Given the description of an element on the screen output the (x, y) to click on. 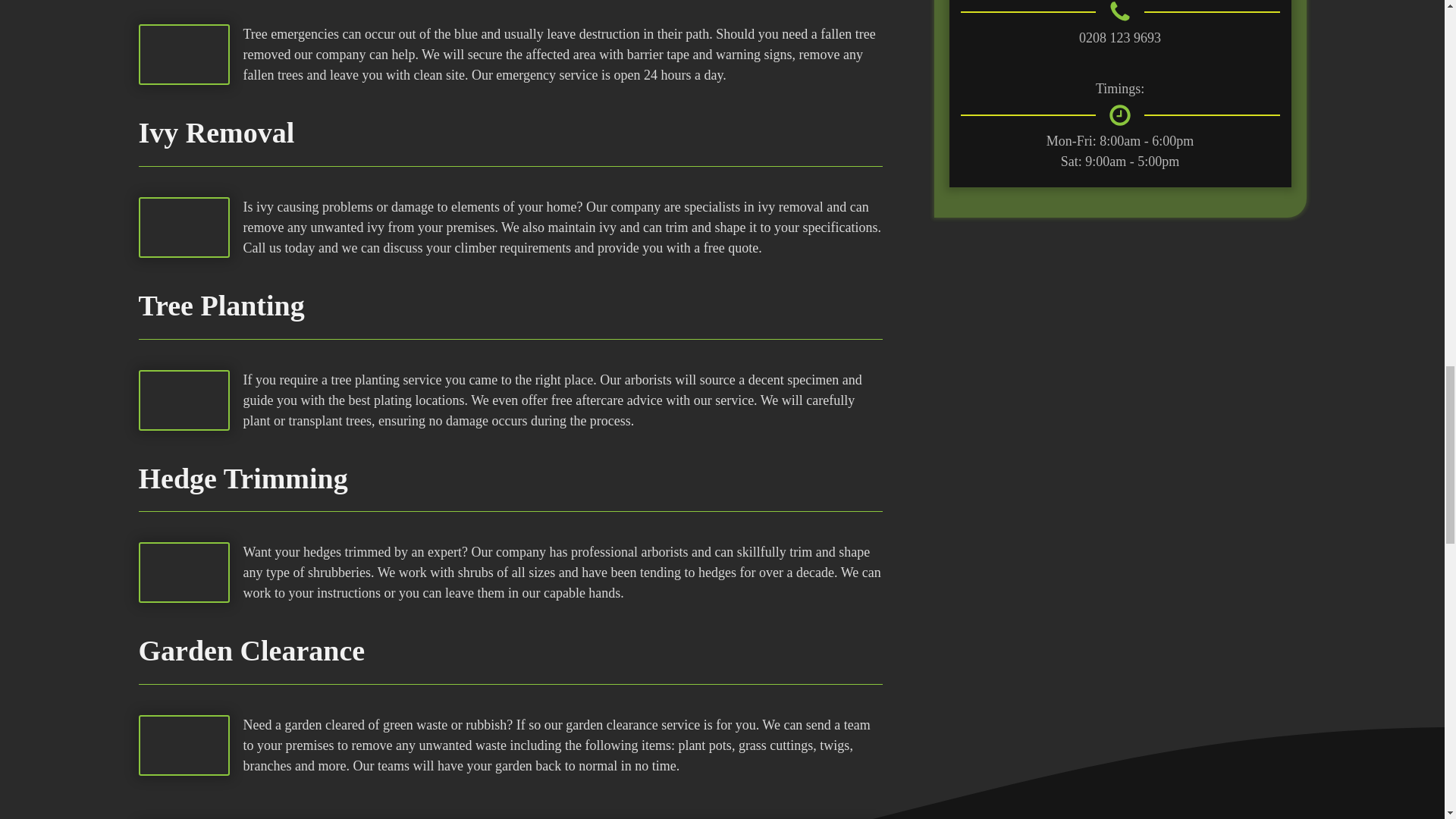
hedge trimming small (183, 572)
emergency tree work small (183, 54)
ivy removal small (183, 227)
tree planting small (183, 400)
